Given the description of an element on the screen output the (x, y) to click on. 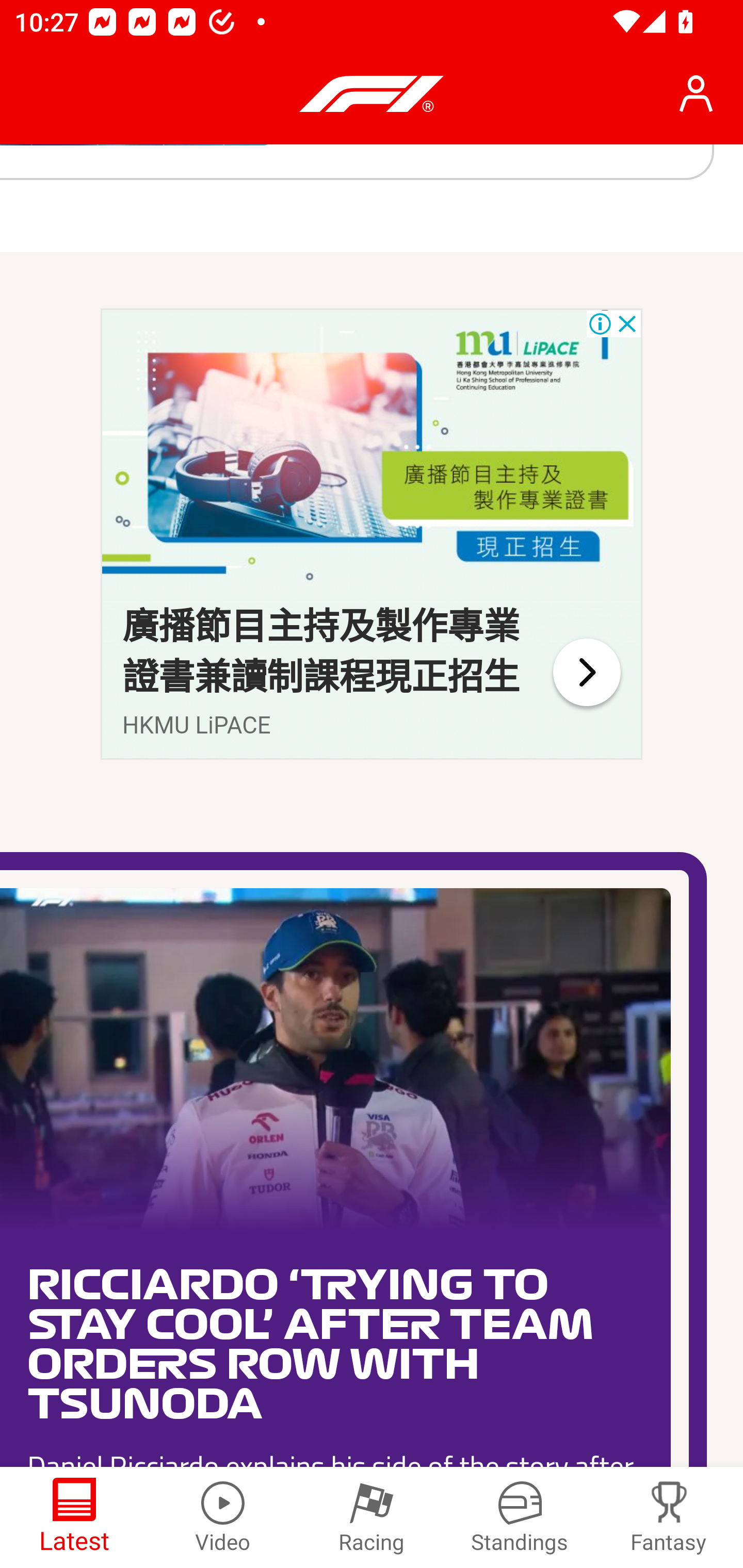
%3Flce%3DGDN_B2023_01 (371, 453)
廣播節目主持及製作專業 證書兼讀制課程現正招生 廣播節目主持及製作專業 證書兼讀制課程現正招生 (321, 652)
%3Flce%3DGDN_B2023_01 (586, 671)
HKMU LiPACE (196, 725)
Video (222, 1517)
Racing (371, 1517)
Standings (519, 1517)
Fantasy (668, 1517)
